Given the description of an element on the screen output the (x, y) to click on. 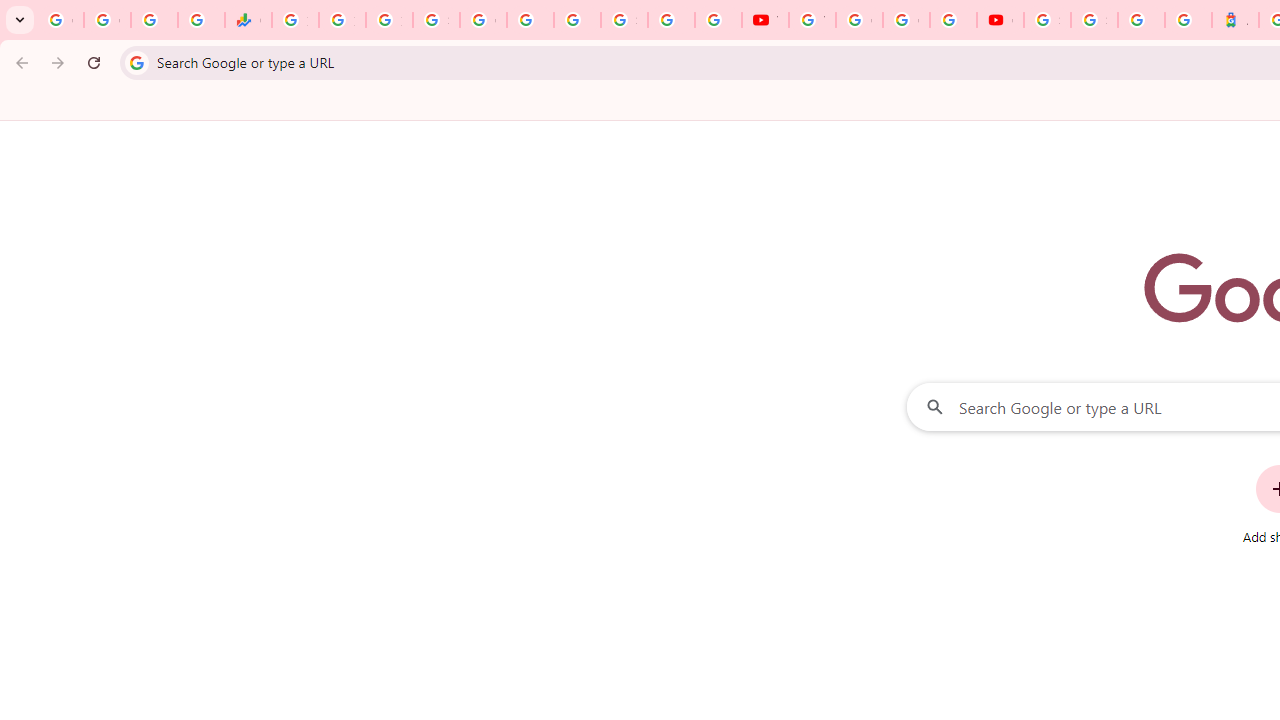
Content Creator Programs & Opportunities - YouTube Creators (999, 20)
YouTube (811, 20)
Create your Google Account (906, 20)
